Given the description of an element on the screen output the (x, y) to click on. 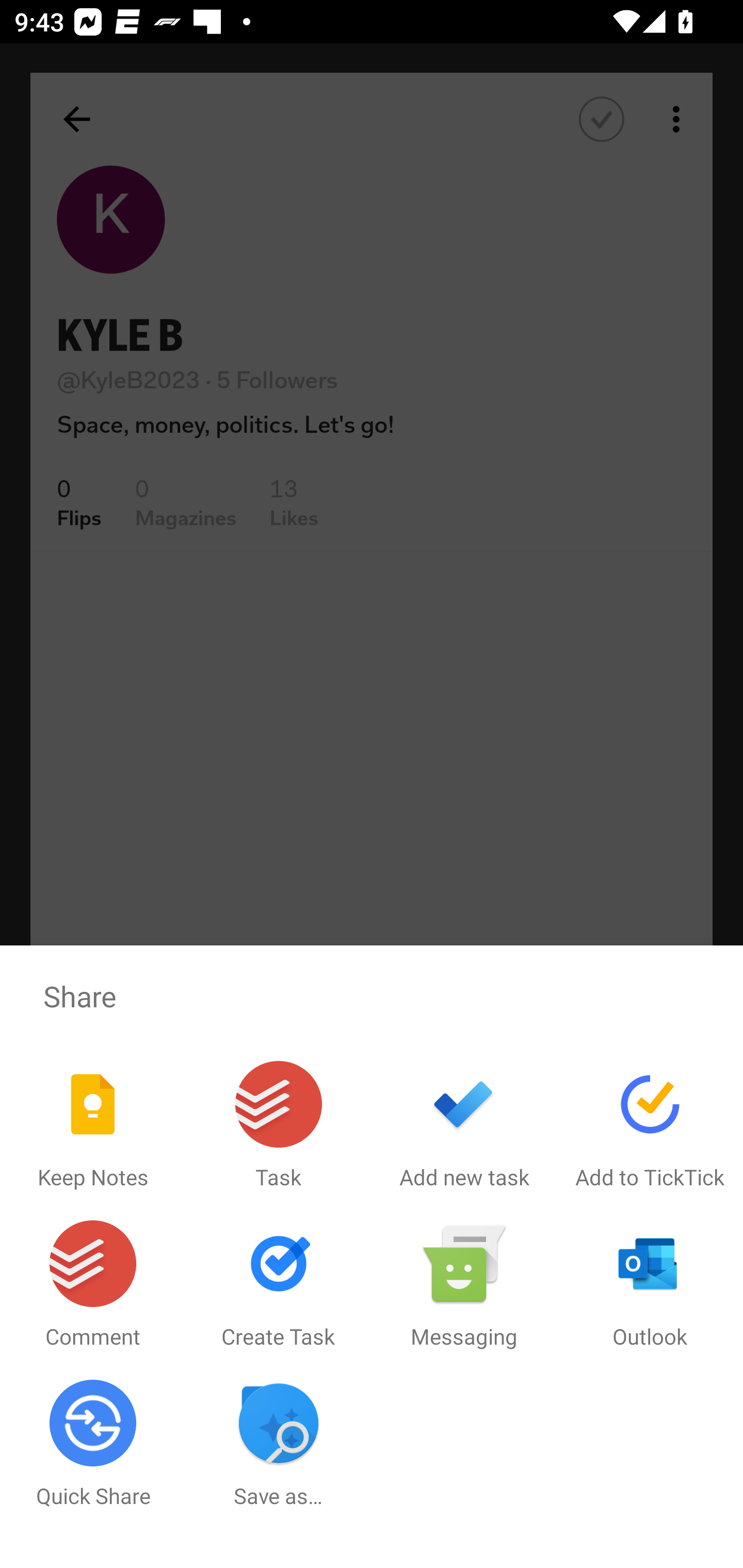
Keep Notes (92, 1125)
Task (278, 1125)
Add new task (464, 1125)
Add to TickTick (650, 1125)
Comment (92, 1285)
Create Task (278, 1285)
Messaging (464, 1285)
Outlook (650, 1285)
Quick Share (92, 1444)
Save as… (278, 1444)
